Given the description of an element on the screen output the (x, y) to click on. 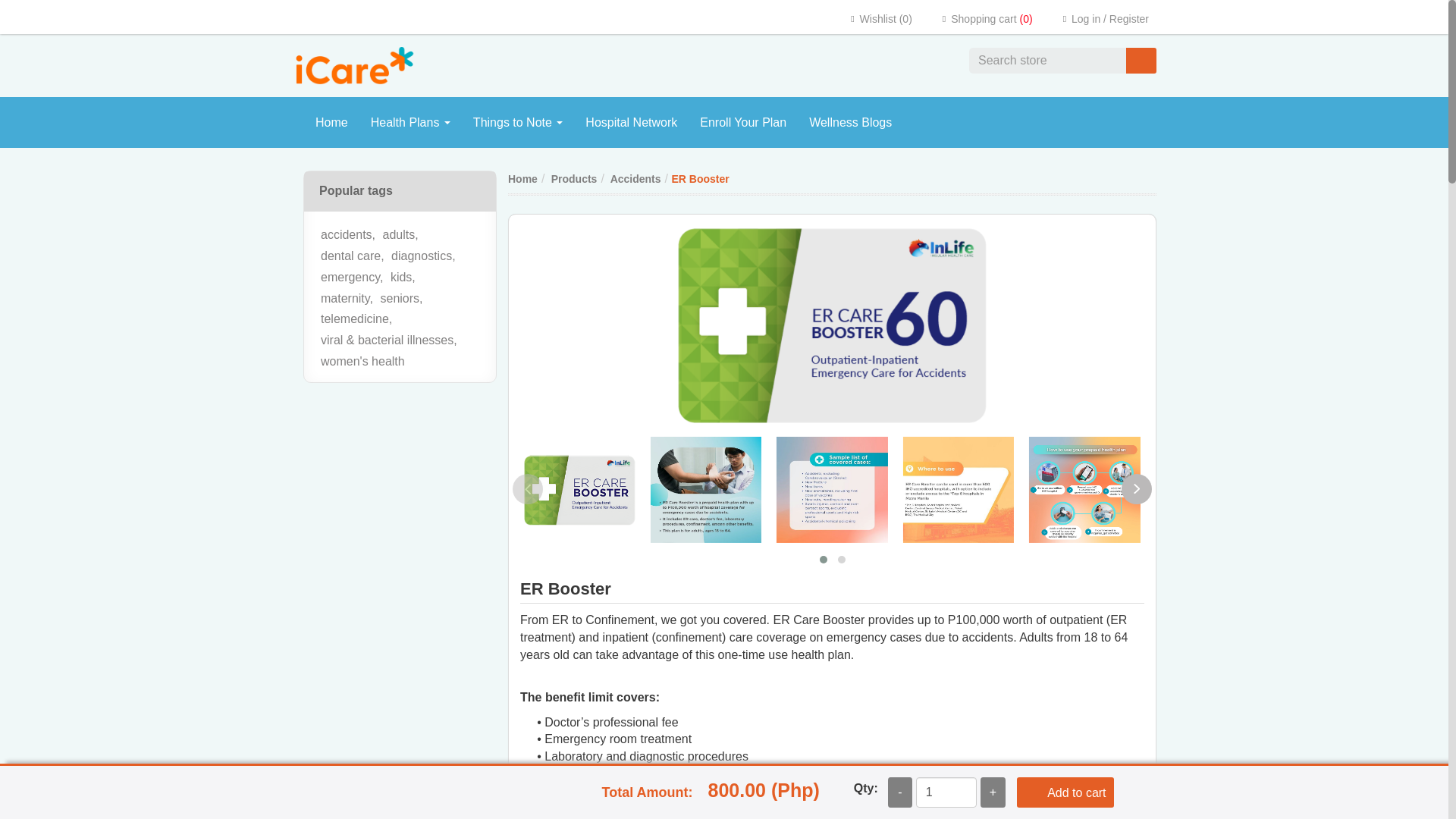
Picture of ER  Booster (832, 490)
Things to Note (518, 122)
Enroll Your Plan (742, 122)
Picture of ER  Booster (705, 490)
Picture of ER  Booster (958, 490)
Home (331, 122)
Wellness Blogs (849, 122)
Picture of ER  Booster (832, 325)
Picture of ER  Booster (579, 490)
Picture of ER  Booster (1084, 490)
Hospital Network (630, 122)
1 (945, 792)
Health Plans (410, 122)
